Given the description of an element on the screen output the (x, y) to click on. 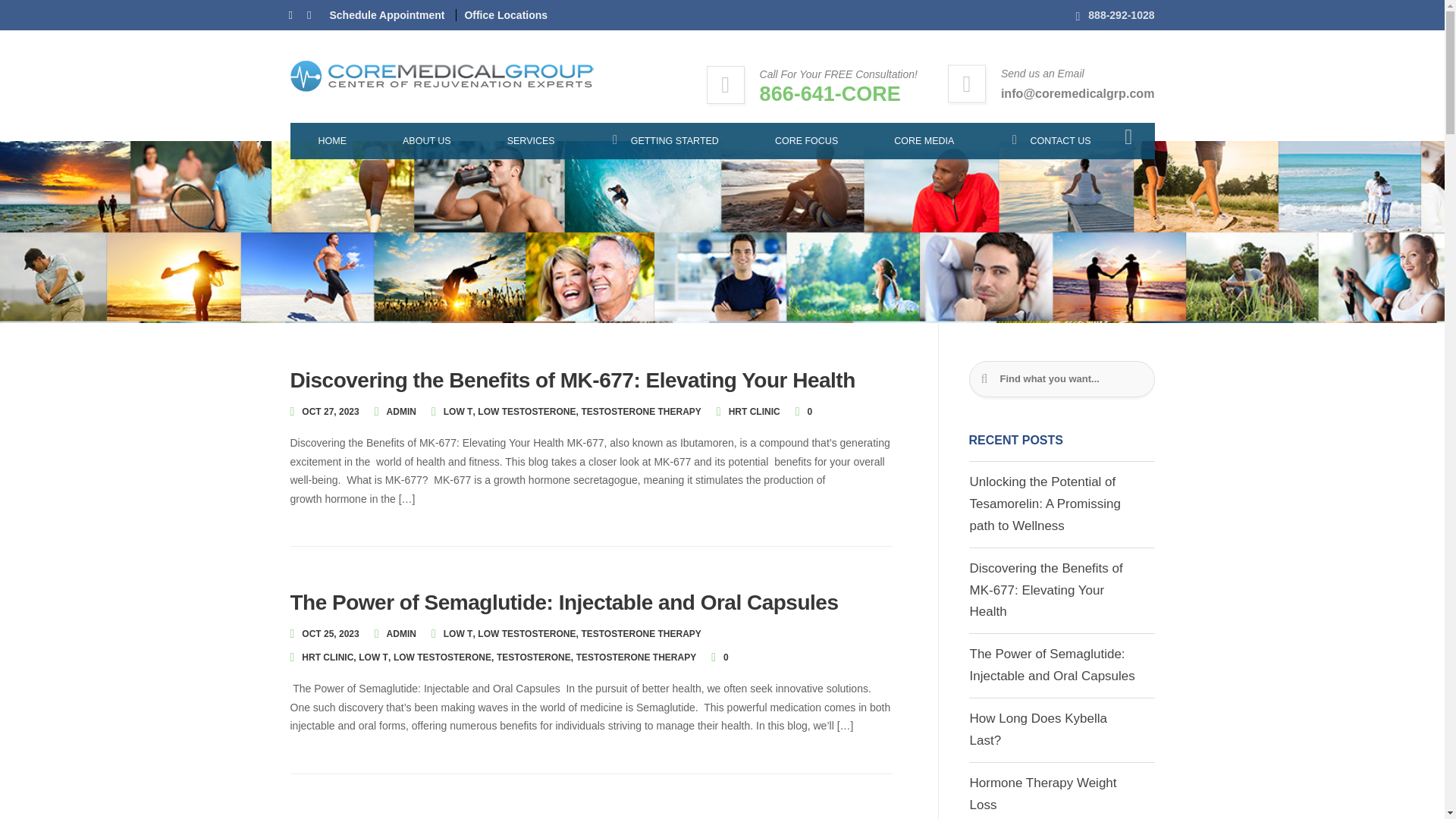
Office Locations (501, 15)
HOME (331, 140)
ABOUT US (426, 140)
Schedule Appointment (386, 15)
CORE FOCUS (806, 140)
SERVICES (531, 140)
GETTING STARTED (664, 140)
